Given the description of an element on the screen output the (x, y) to click on. 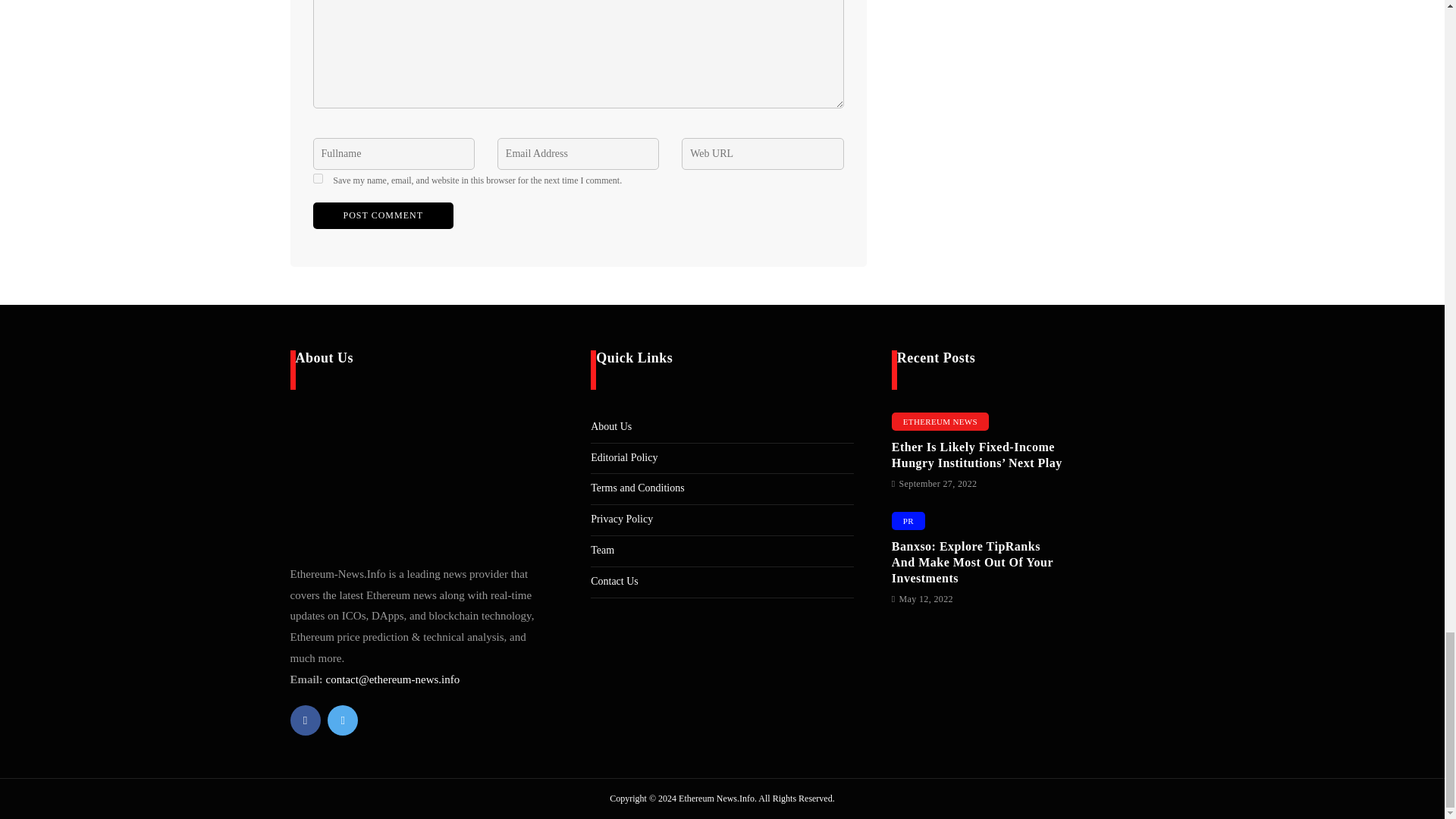
Post Comment (382, 215)
yes (317, 178)
